Given the description of an element on the screen output the (x, y) to click on. 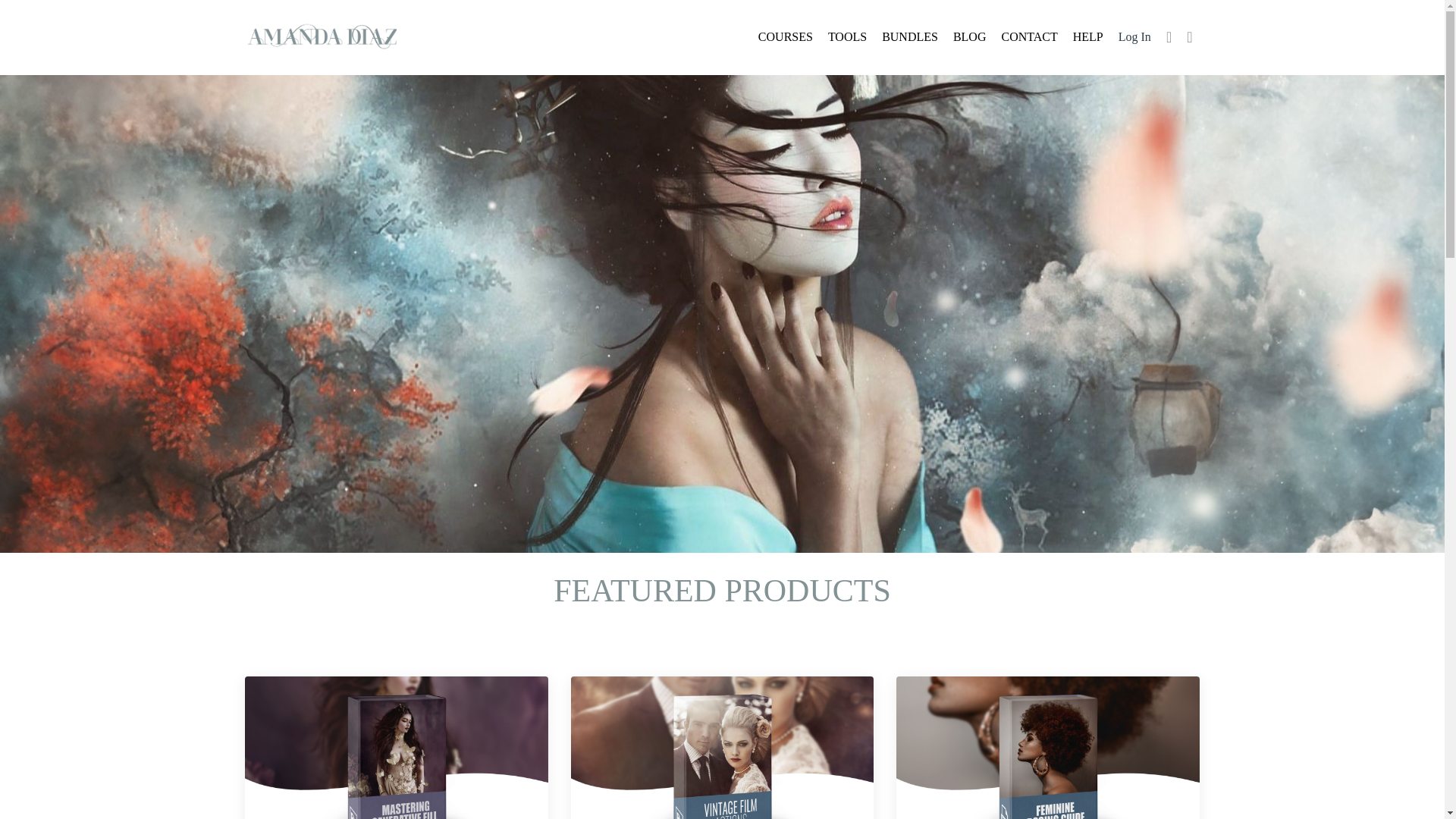
Log In (1134, 36)
CONTACT (1029, 36)
TOOLS (847, 36)
BUNDLES (909, 36)
HELP (1088, 36)
COURSES (785, 36)
BLOG (970, 36)
